Given the description of an element on the screen output the (x, y) to click on. 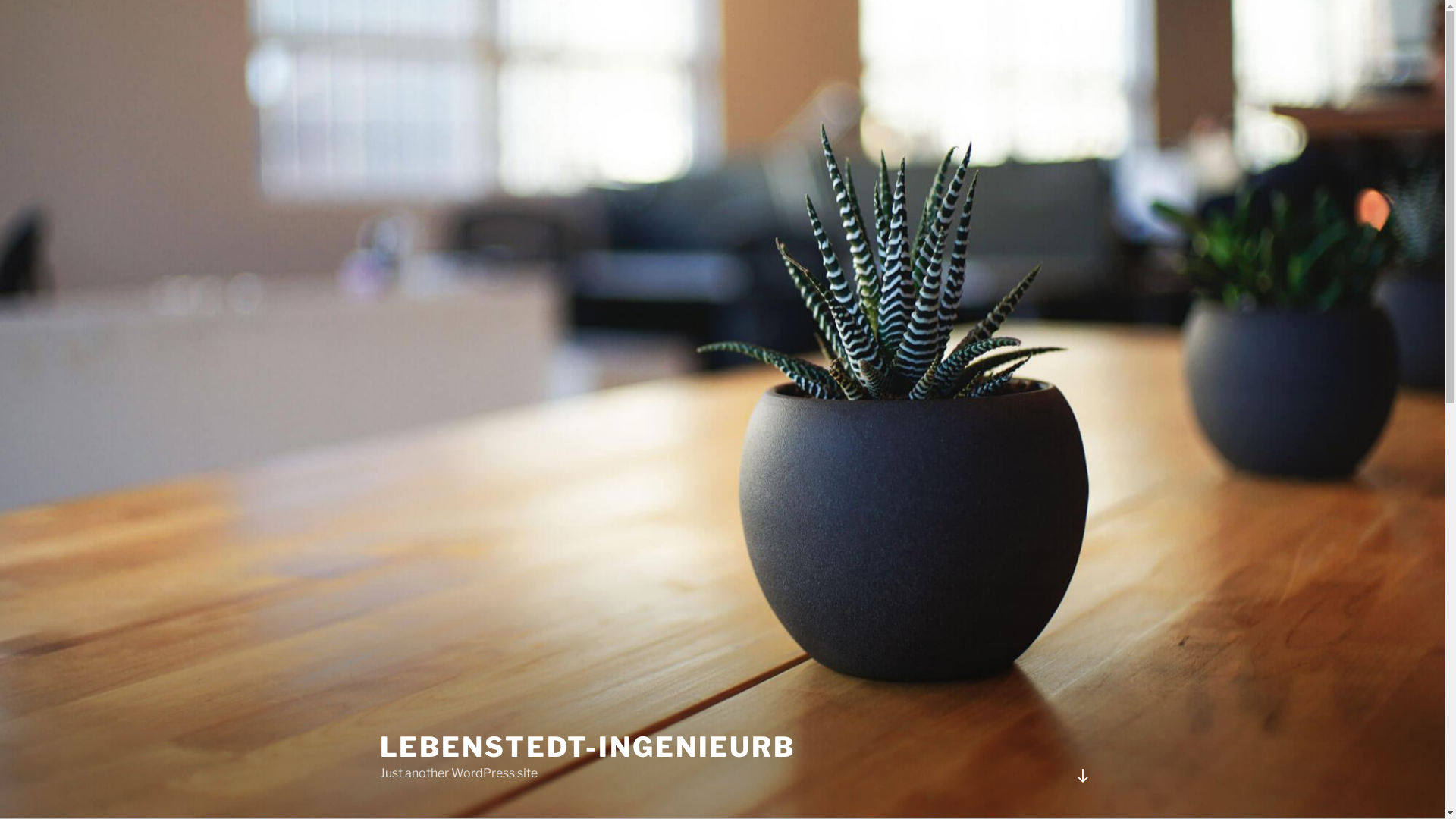
LEBENSTEDT-INGENIEURB Element type: text (586, 746)
Zum Inhalt springen Element type: text (0, 0)
Zum Inhalt nach unten scrollen Element type: text (1082, 775)
